Given the description of an element on the screen output the (x, y) to click on. 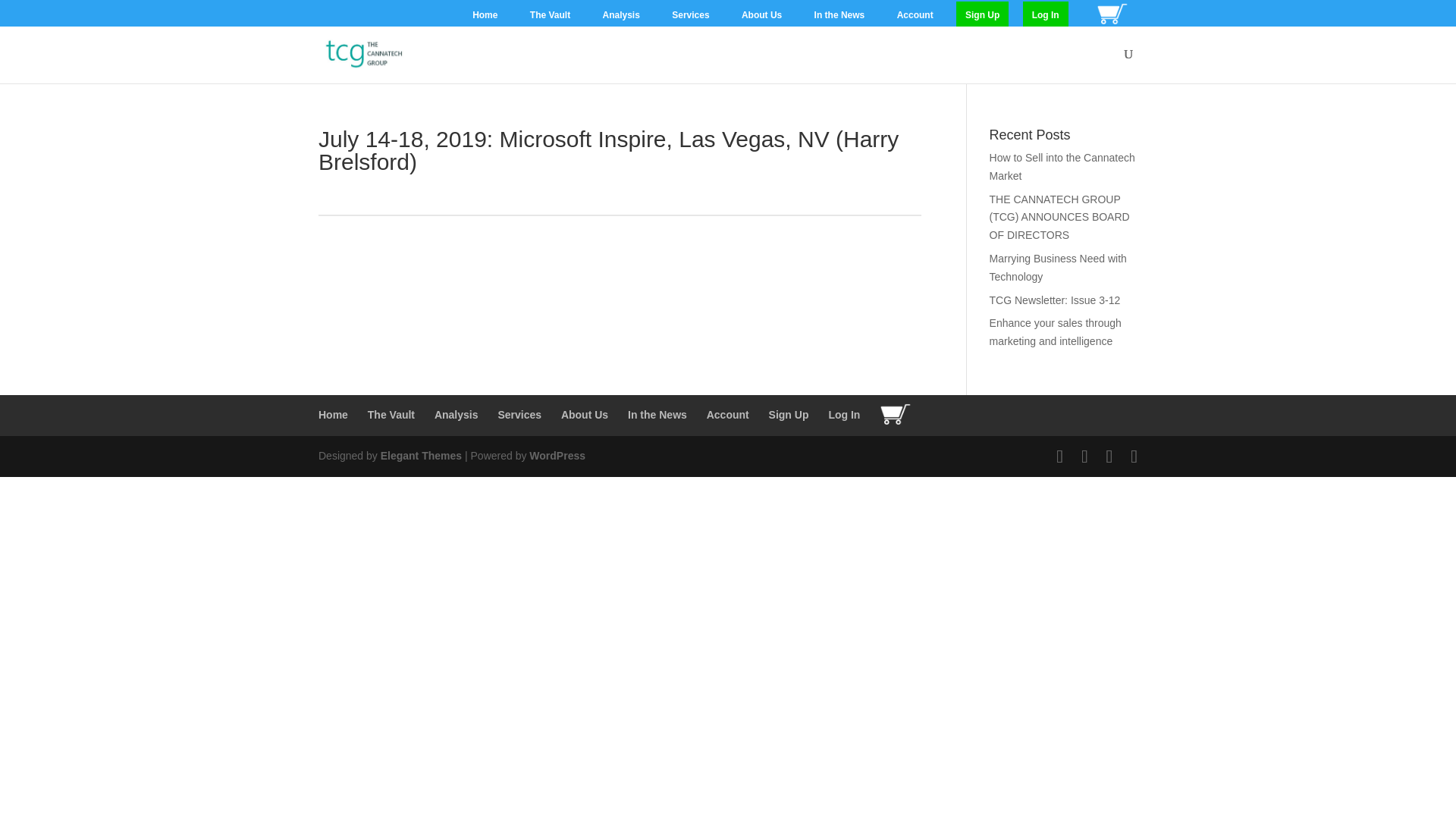
Analysis (619, 13)
TCG Newsletter: Issue 3-12 (1055, 300)
Home (332, 414)
How to Sell into the Cannatech Market (1062, 166)
Sign Up (788, 414)
Log In (1045, 13)
Services (689, 13)
Elegant Themes (420, 455)
Vault (391, 414)
About Us (584, 414)
In the News (840, 13)
In the News (657, 414)
Sign Up (982, 13)
Premium WordPress Themes (420, 455)
Enhance your sales through marketing and intelligence (1055, 331)
